Given the description of an element on the screen output the (x, y) to click on. 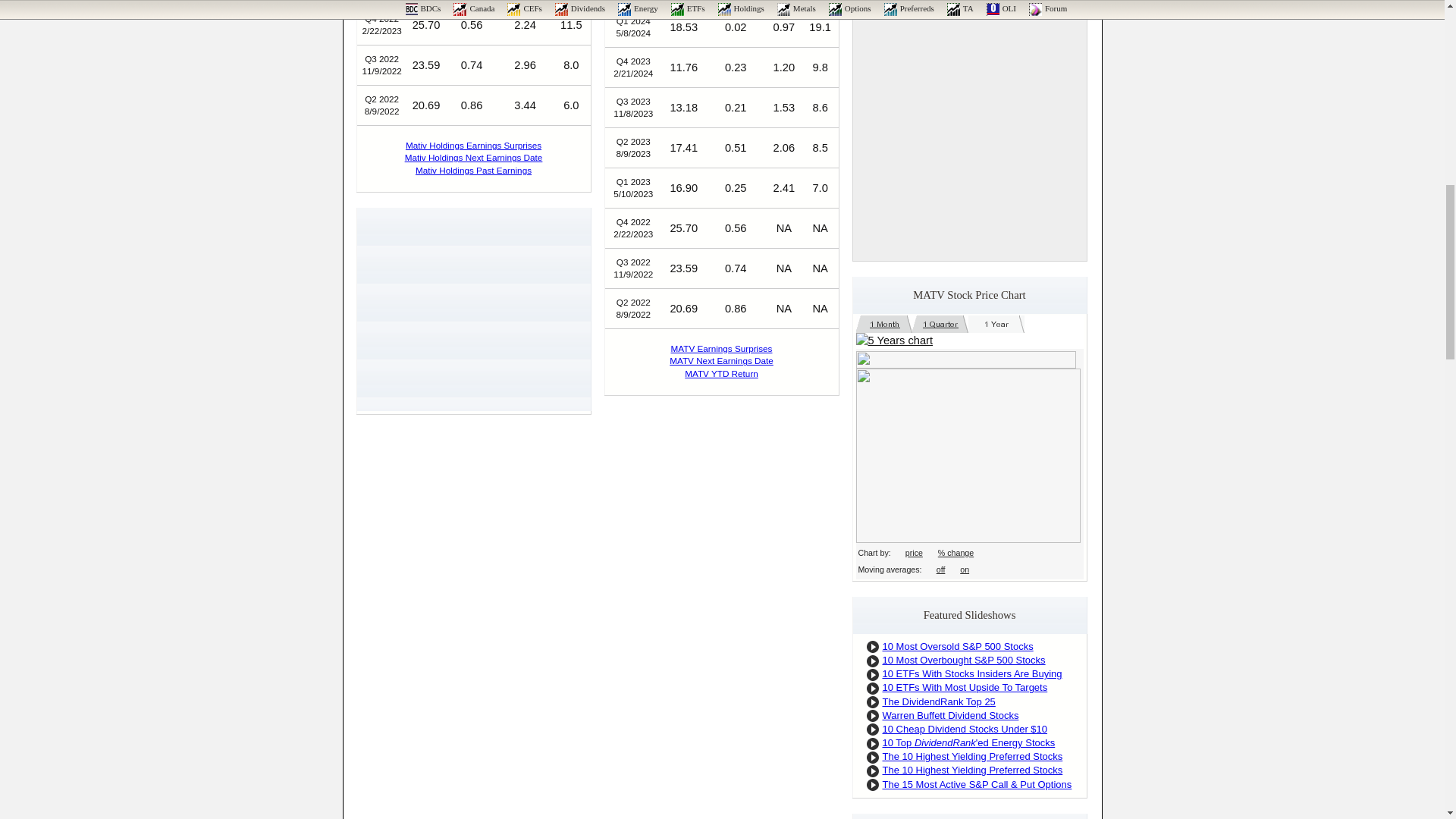
MATV Earnings Surprises (722, 347)
price (914, 552)
10 ETFs With Stocks Insiders Are Buying (972, 673)
on (964, 569)
Mativ Holdings Earnings Surprises (473, 144)
Mativ Holdings Next Earnings Date (473, 157)
off (940, 569)
MATV YTD Return (721, 373)
MATV Next Earnings Date (721, 360)
10 ETFs With Most Upside To Targets (965, 686)
Mativ Holdings Past Earnings (472, 170)
